Given the description of an element on the screen output the (x, y) to click on. 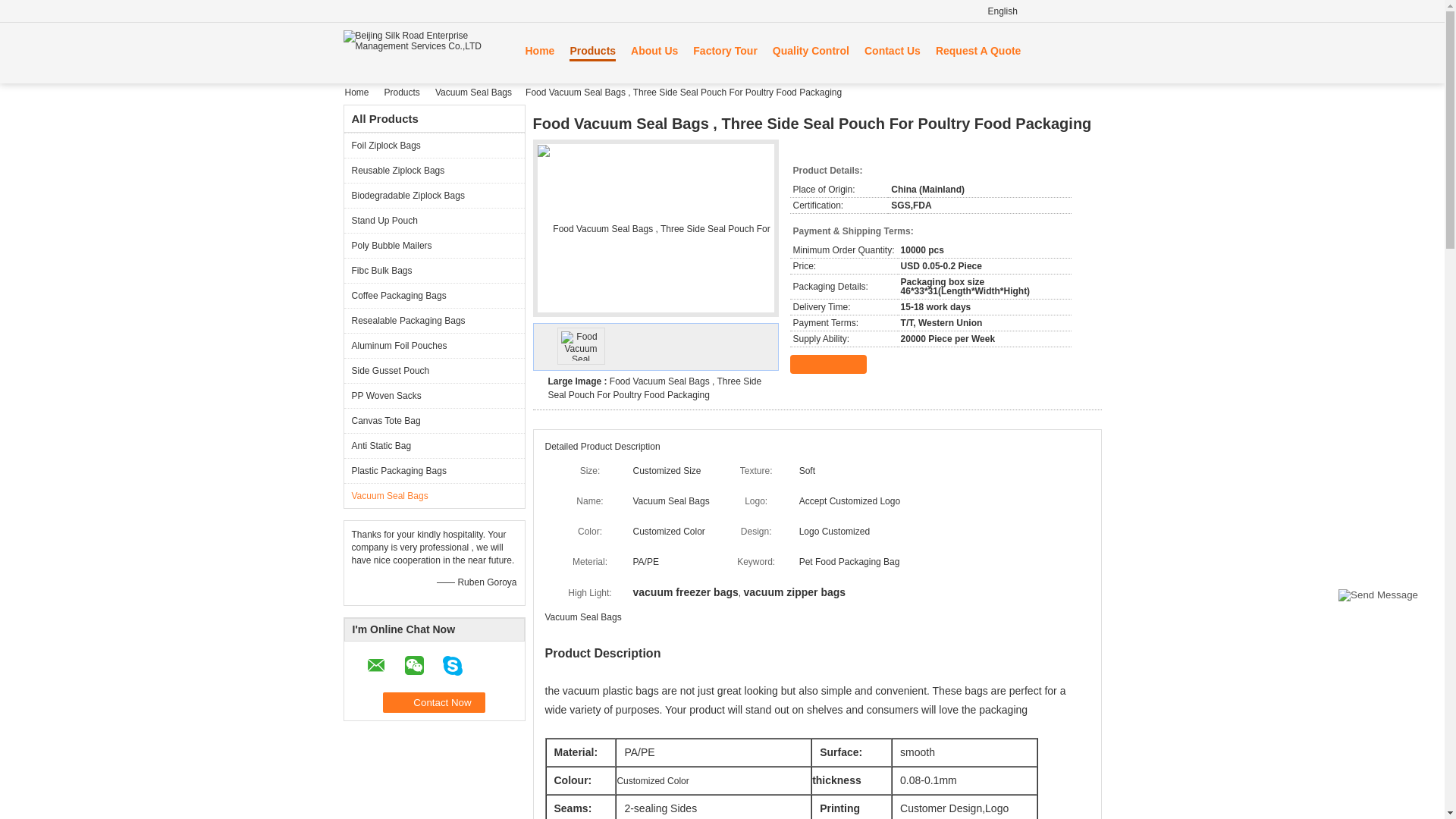
Home (539, 50)
About Us (654, 50)
Vacuum Seal Bags (433, 495)
Resealable Packaging Bags (433, 319)
Quality Control (810, 50)
Fibc Bulk Bags (433, 269)
Contact Now (433, 702)
Foil Ziplock Bags (433, 145)
Canvas Tote Bag (433, 420)
Plastic Packaging Bags (433, 470)
Anti Static Bag (433, 445)
PP Woven Sacks (433, 395)
Products (403, 91)
Stand Up Pouch (433, 220)
Biodegradable Ziplock Bags (433, 195)
